Given the description of an element on the screen output the (x, y) to click on. 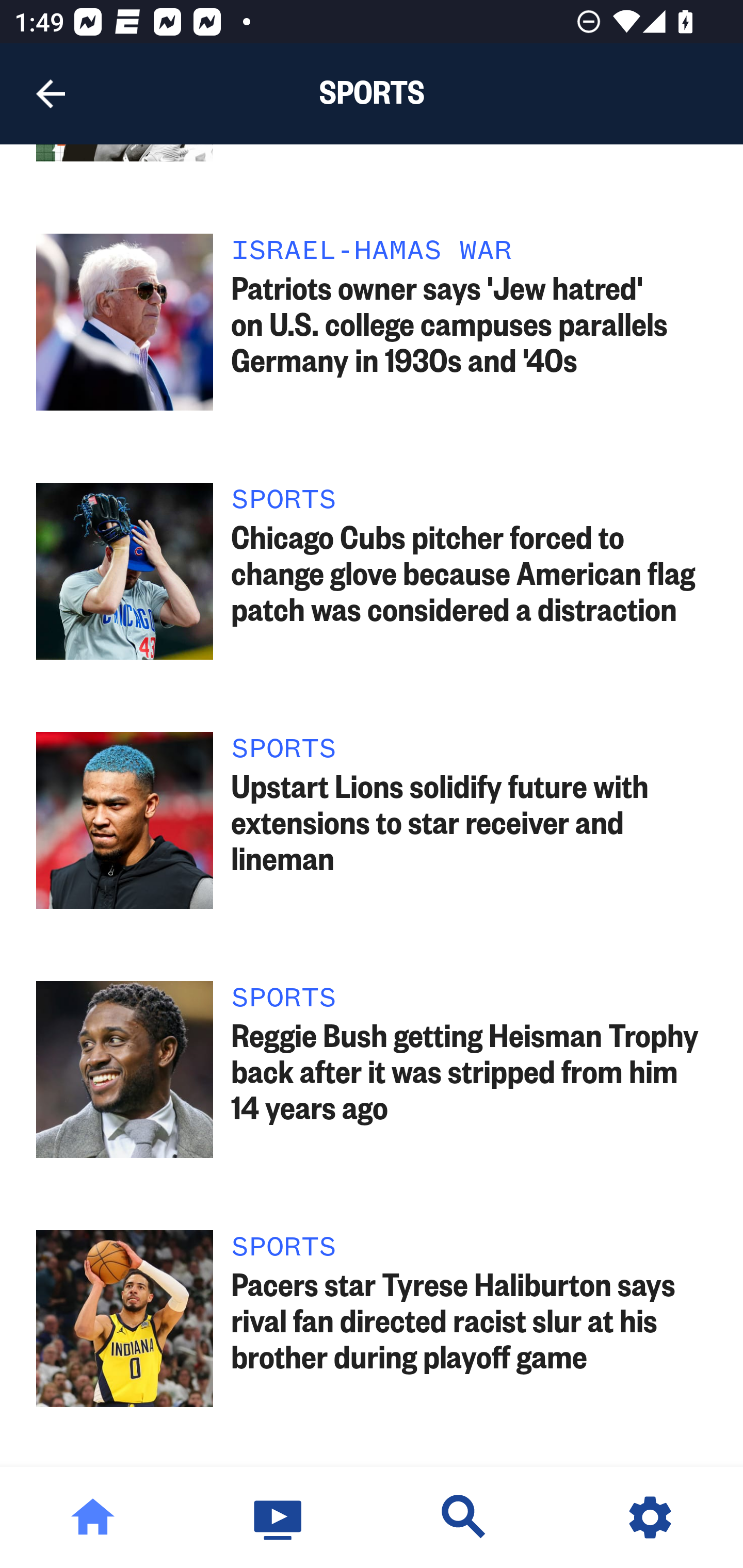
Navigate up (50, 93)
Watch (278, 1517)
Discover (464, 1517)
Settings (650, 1517)
